Given the description of an element on the screen output the (x, y) to click on. 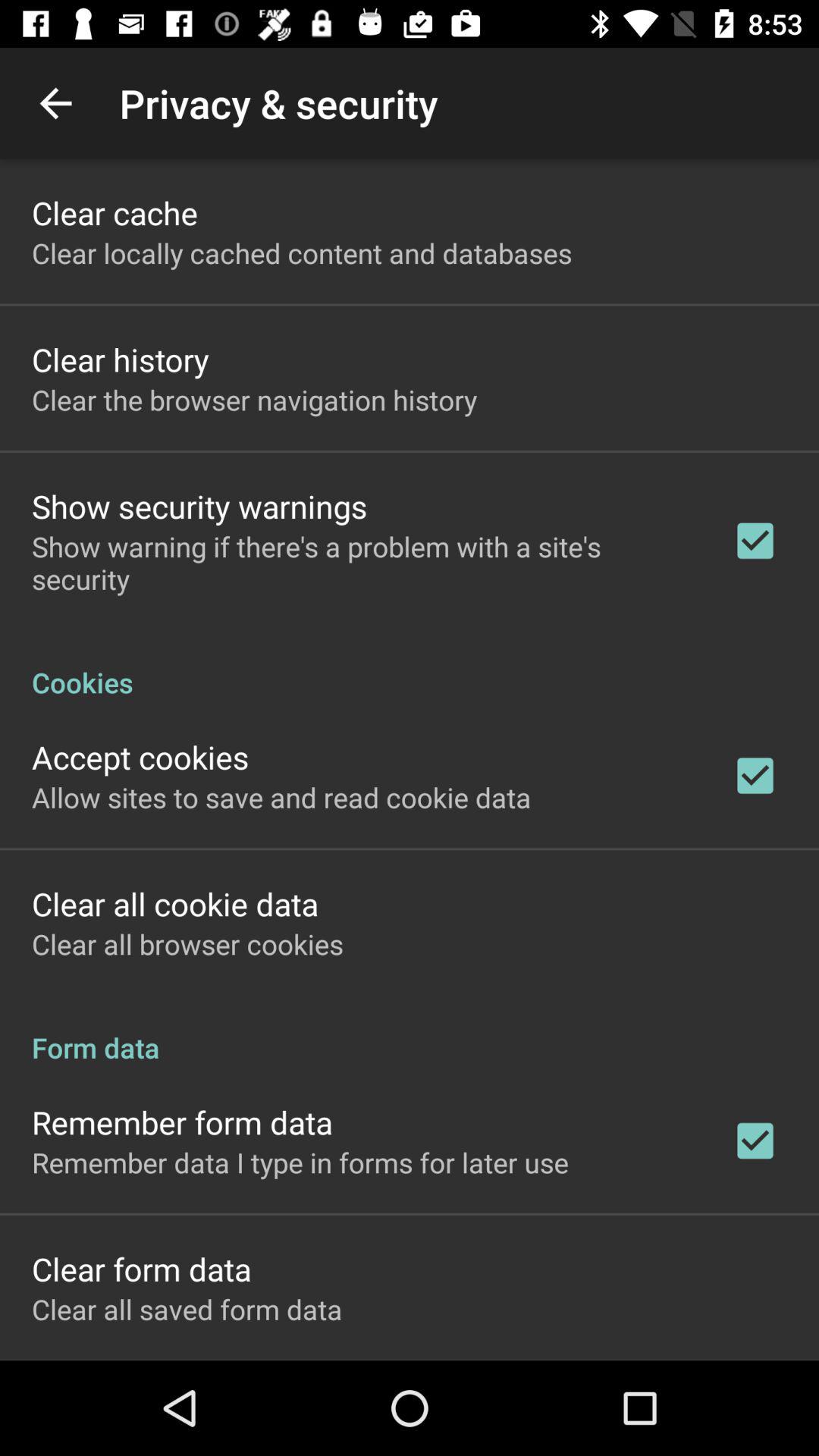
scroll to clear locally cached item (301, 252)
